Given the description of an element on the screen output the (x, y) to click on. 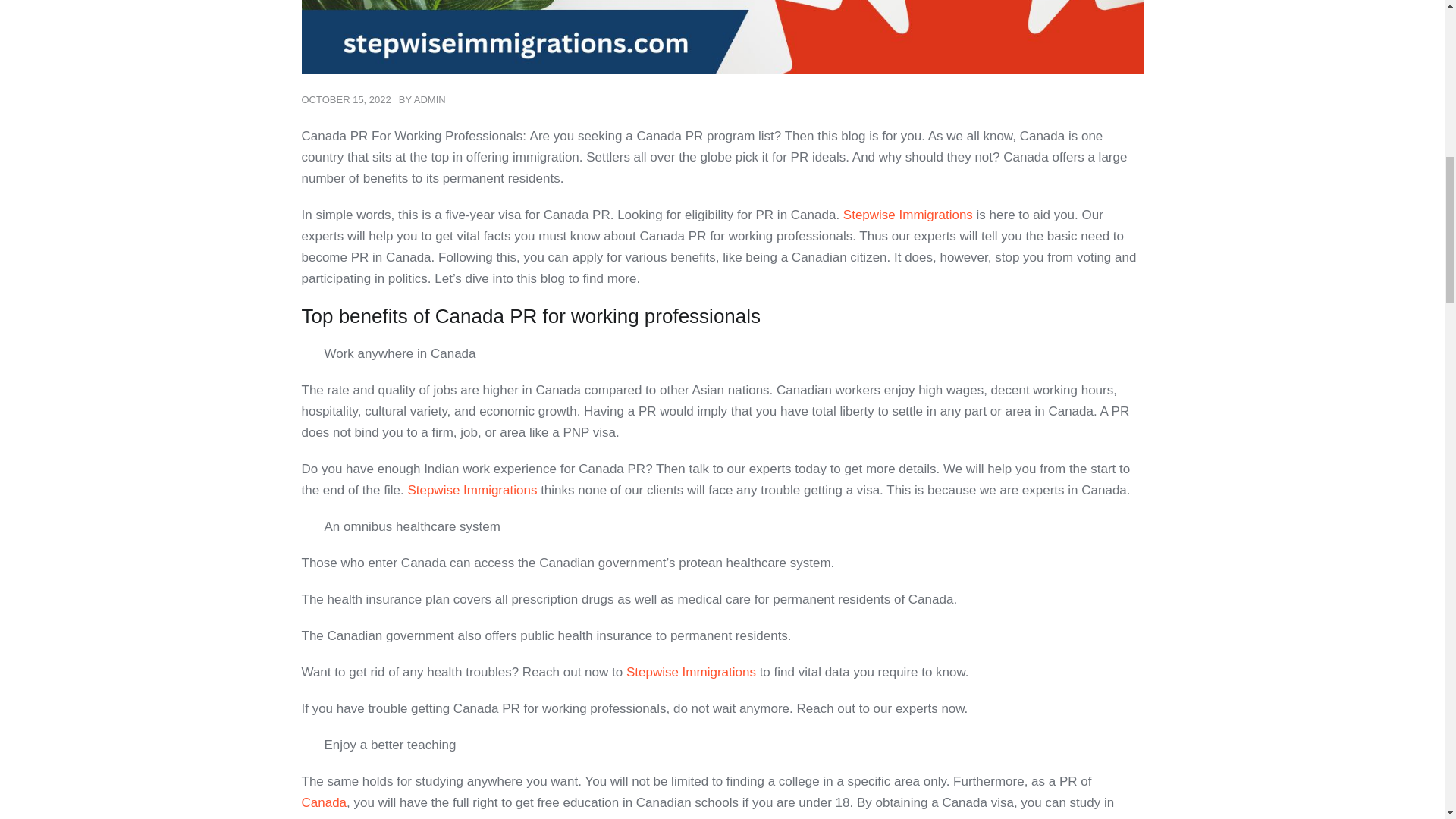
Canada PR For Working Professionals (721, 37)
